Given the description of an element on the screen output the (x, y) to click on. 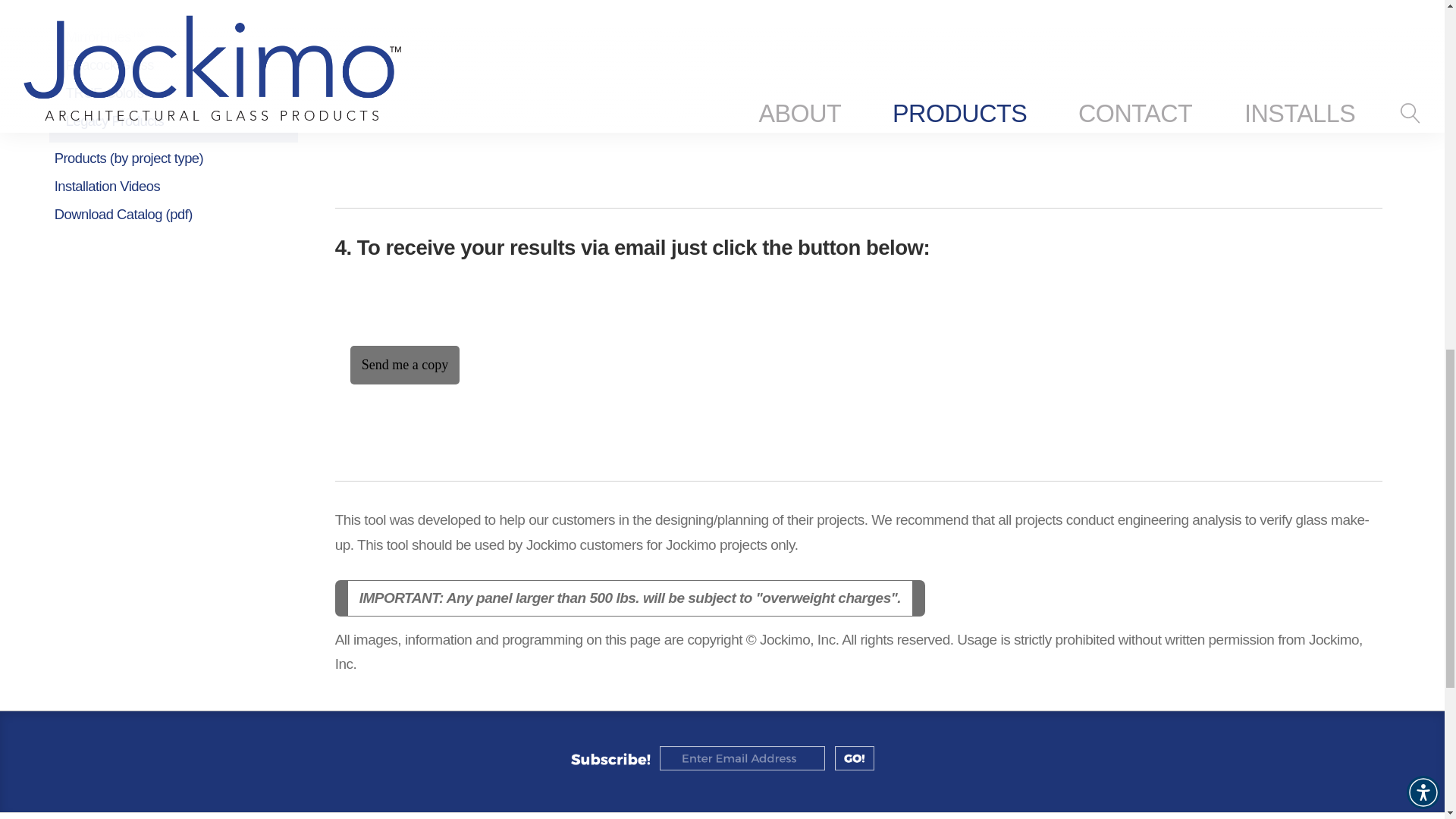
Installation Videos (173, 186)
Send me a copy (405, 364)
Legacy Products (179, 120)
Peacock Glass (179, 65)
TRUE Colors (179, 92)
